Given the description of an element on the screen output the (x, y) to click on. 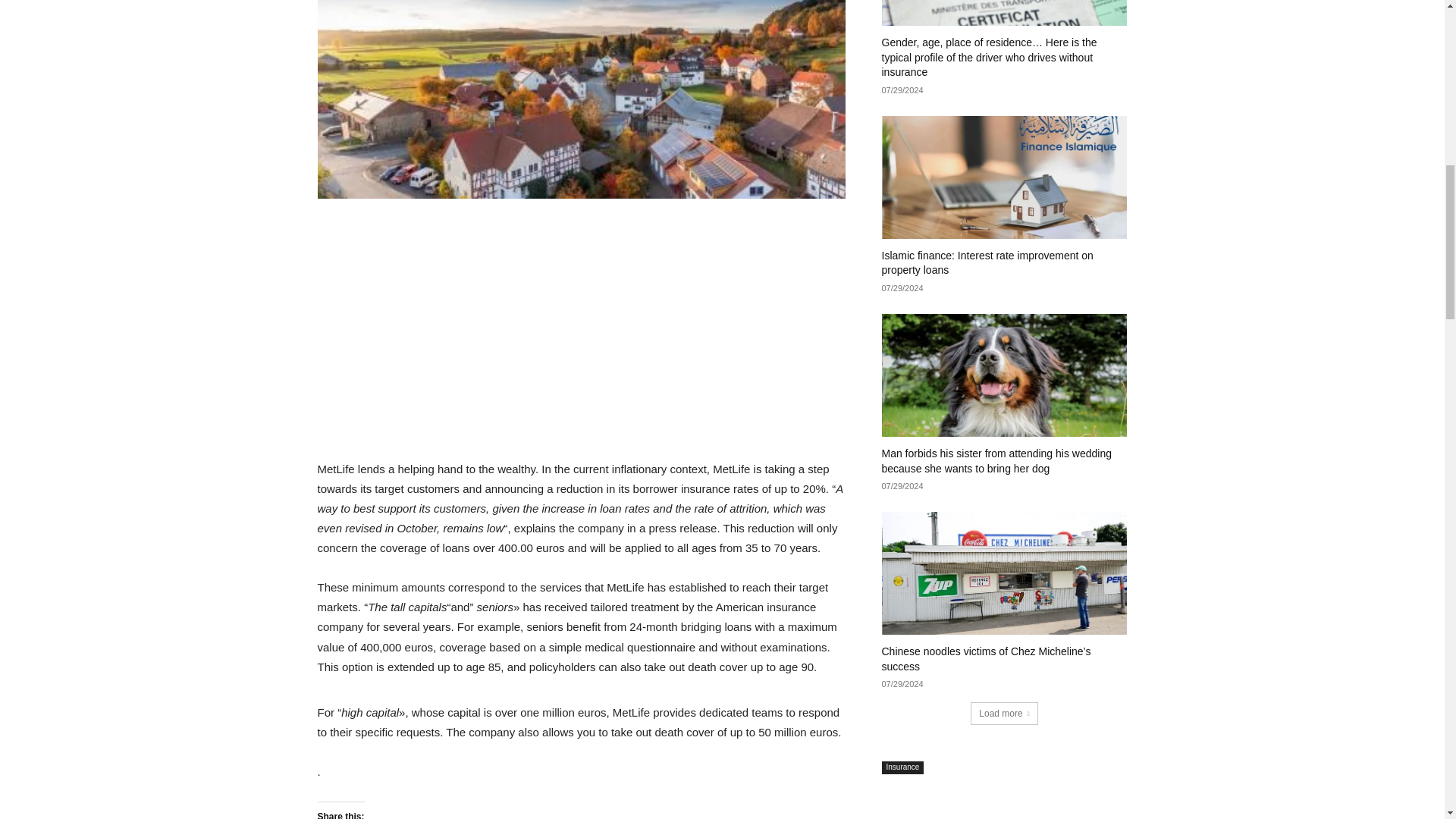
MetLife reviews its rates as a borrower (580, 99)
